Given the description of an element on the screen output the (x, y) to click on. 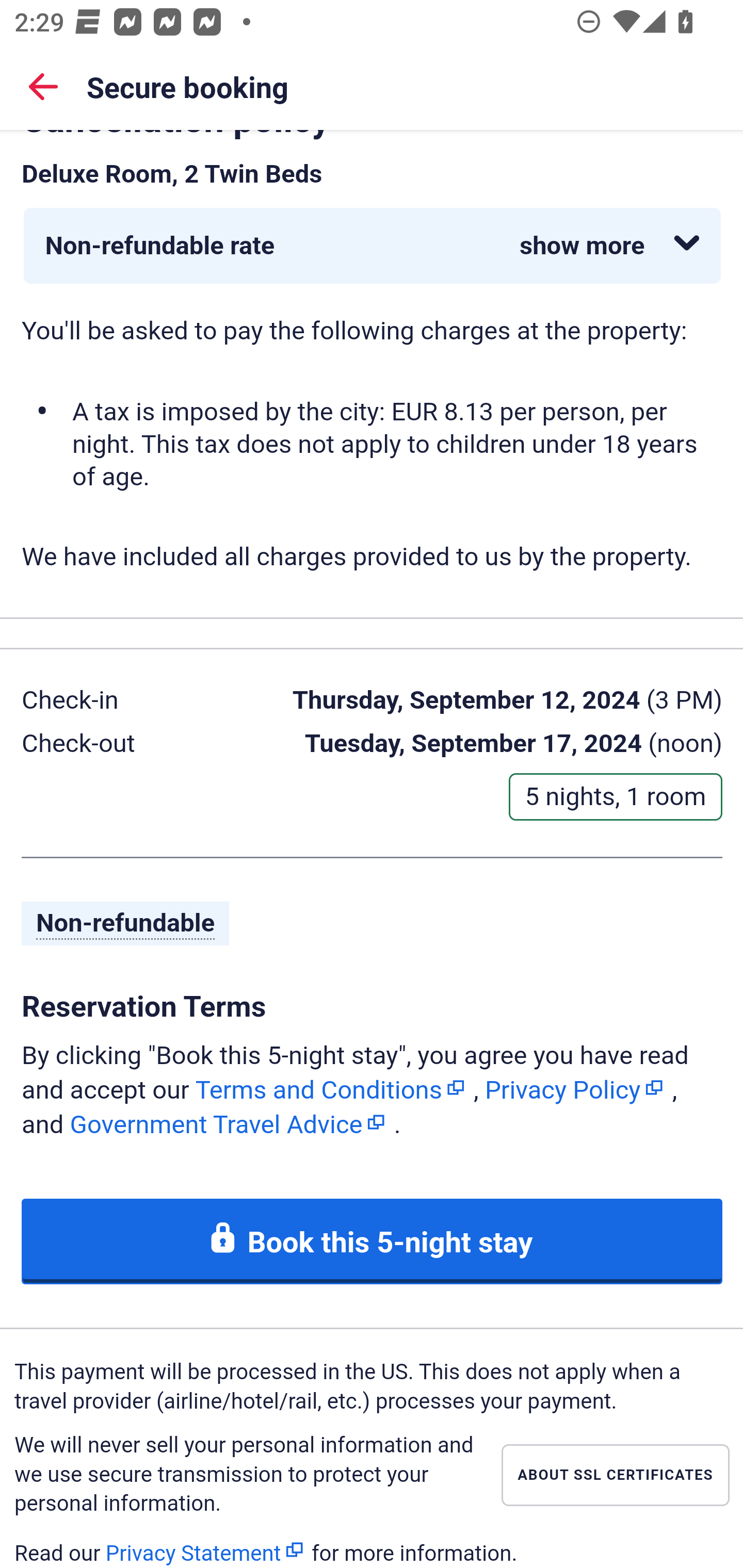
Back (43, 86)
Non-refundable rate (372, 246)
Non-refundable (126, 925)
Terms and Conditions Terms and Conditions  (330, 1089)
Privacy Policy Privacy Policy  (574, 1089)
Book this 5-night stay (372, 1242)
ABOUT SSL CERTIFICATES (615, 1475)
Privacy Statement Privacy Statement  (205, 1549)
